Given the description of an element on the screen output the (x, y) to click on. 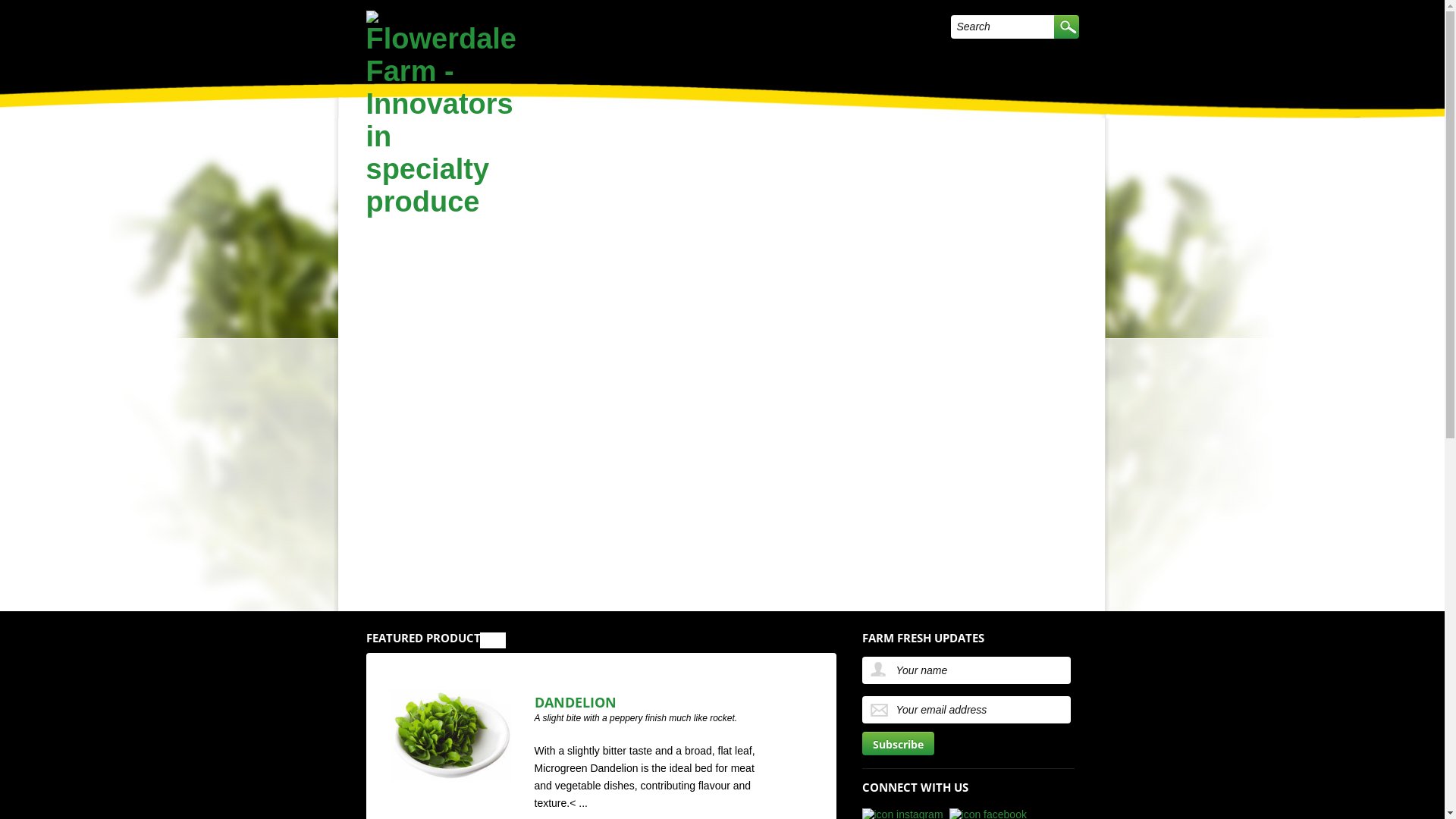
Subscribe Element type: text (897, 743)
Dandelion Element type: hover (450, 735)
  Element type: text (1066, 26)
Dandelion Element type: hover (450, 777)
DANDELION Element type: text (574, 702)
